Given the description of an element on the screen output the (x, y) to click on. 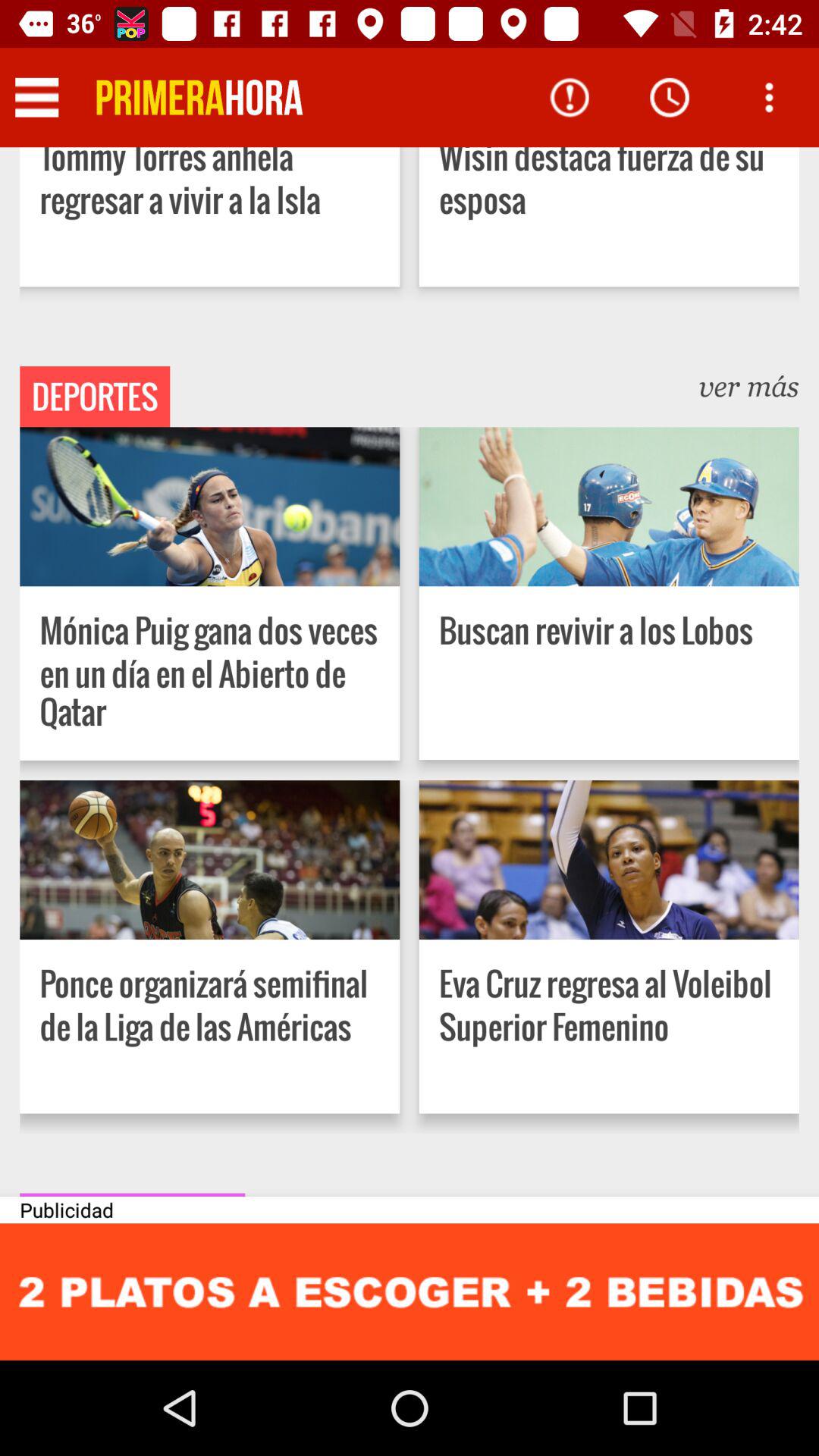
swipe until the deportes icon (94, 396)
